Given the description of an element on the screen output the (x, y) to click on. 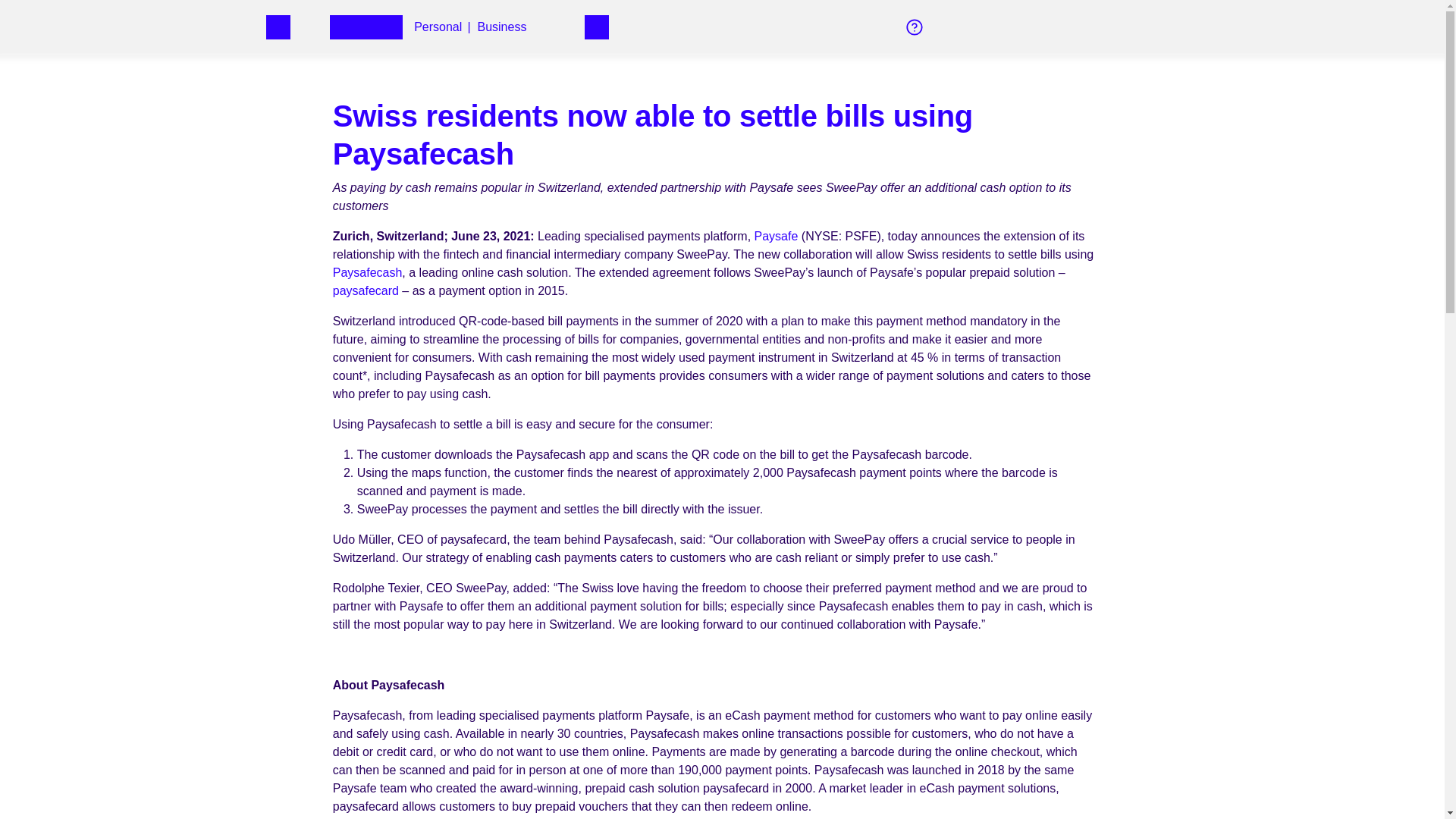
on (611, 27)
Paysafe (775, 236)
Paysafecash (368, 272)
paysafecard (501, 27)
Paysafecard (437, 26)
on (365, 290)
Help (366, 27)
